Given the description of an element on the screen output the (x, y) to click on. 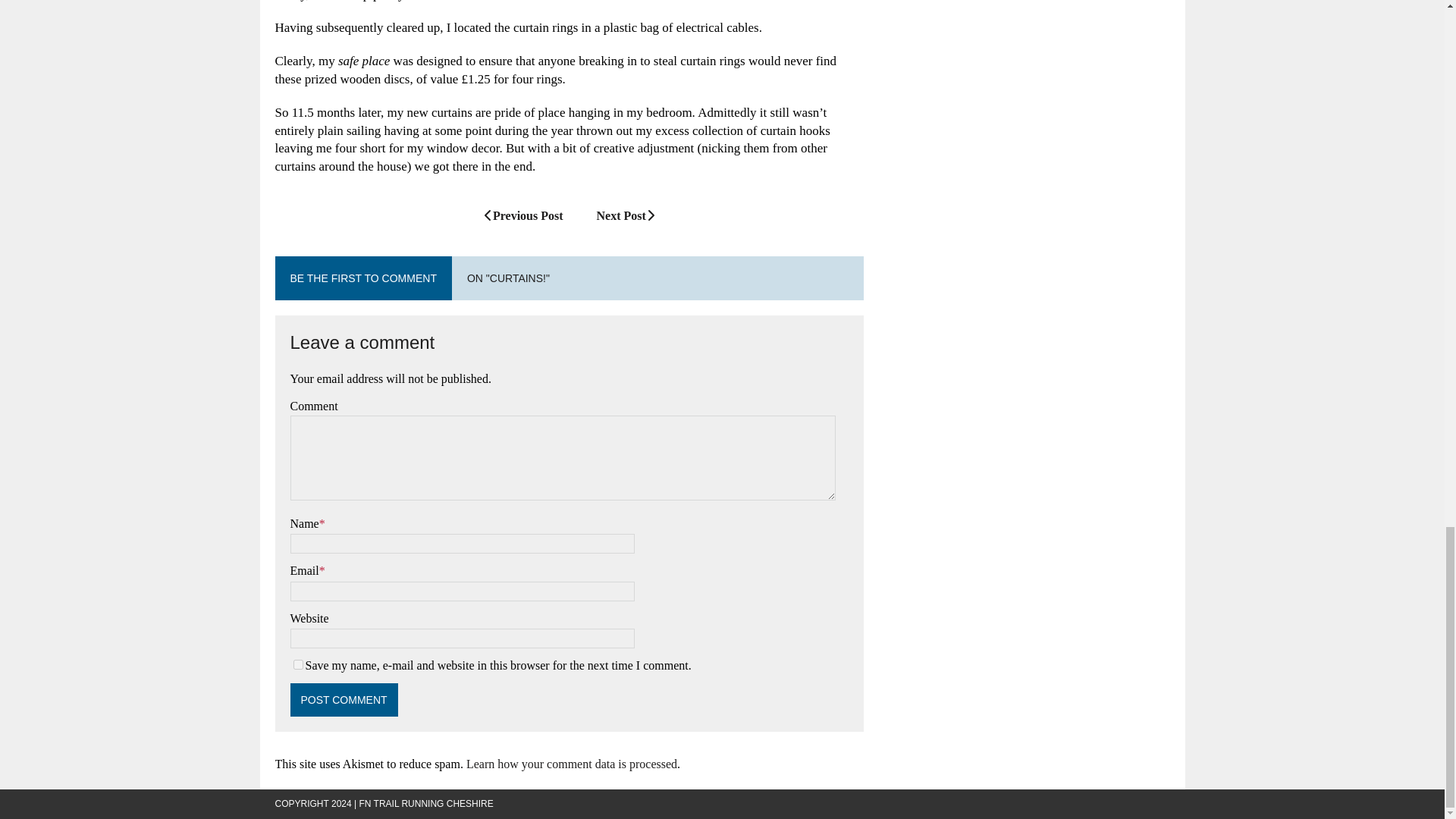
yes (297, 664)
Post Comment (343, 699)
